Given the description of an element on the screen output the (x, y) to click on. 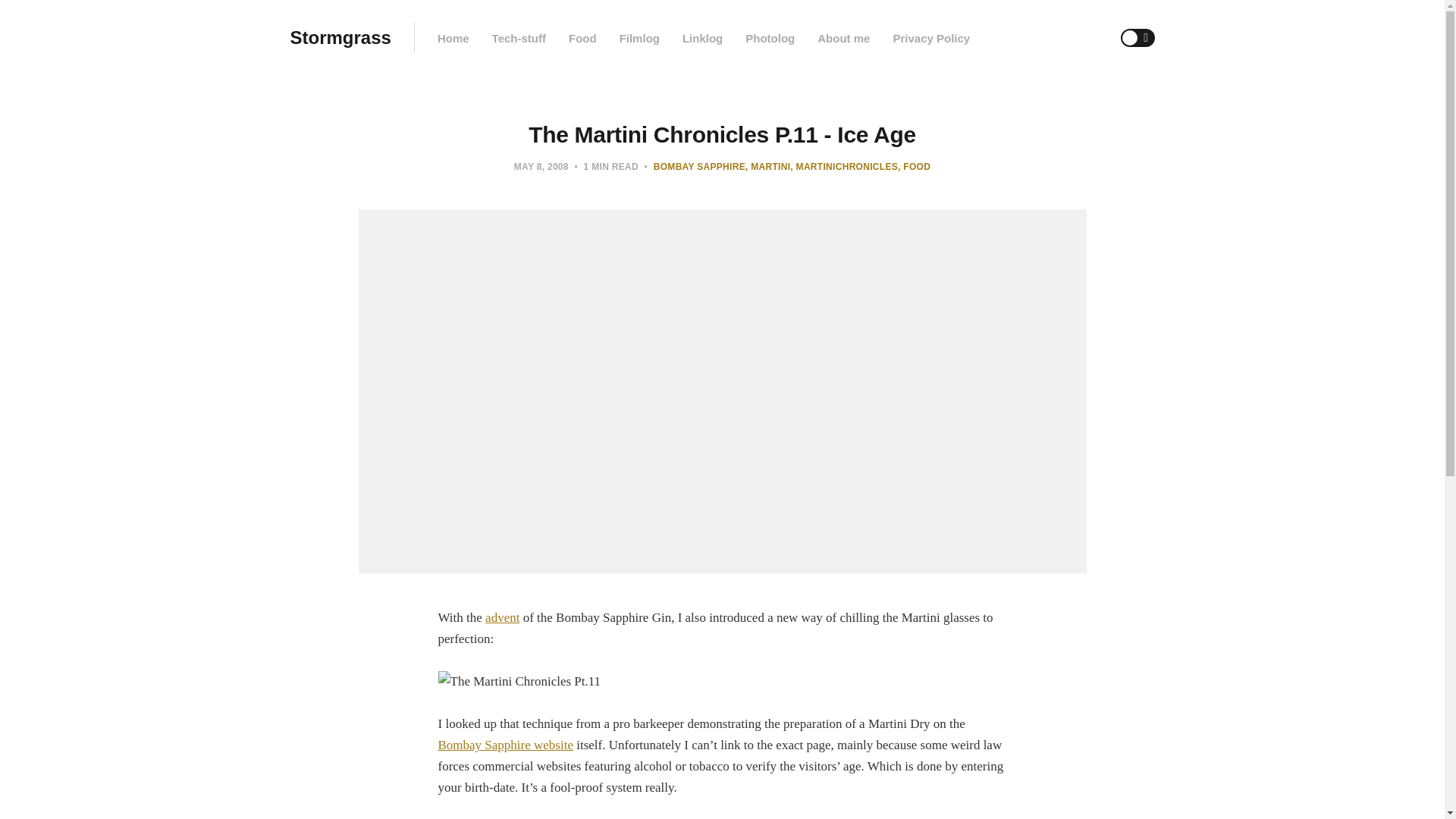
Home (453, 38)
Bombay Sapphire website (505, 744)
BOMBAY SAPPHIRE (699, 166)
Martini (767, 166)
Privacy Policy (930, 38)
Food (582, 38)
Linklog (702, 38)
FOOD (914, 166)
MARTINICHRONICLES (844, 166)
Stormgrass (339, 37)
